Given the description of an element on the screen output the (x, y) to click on. 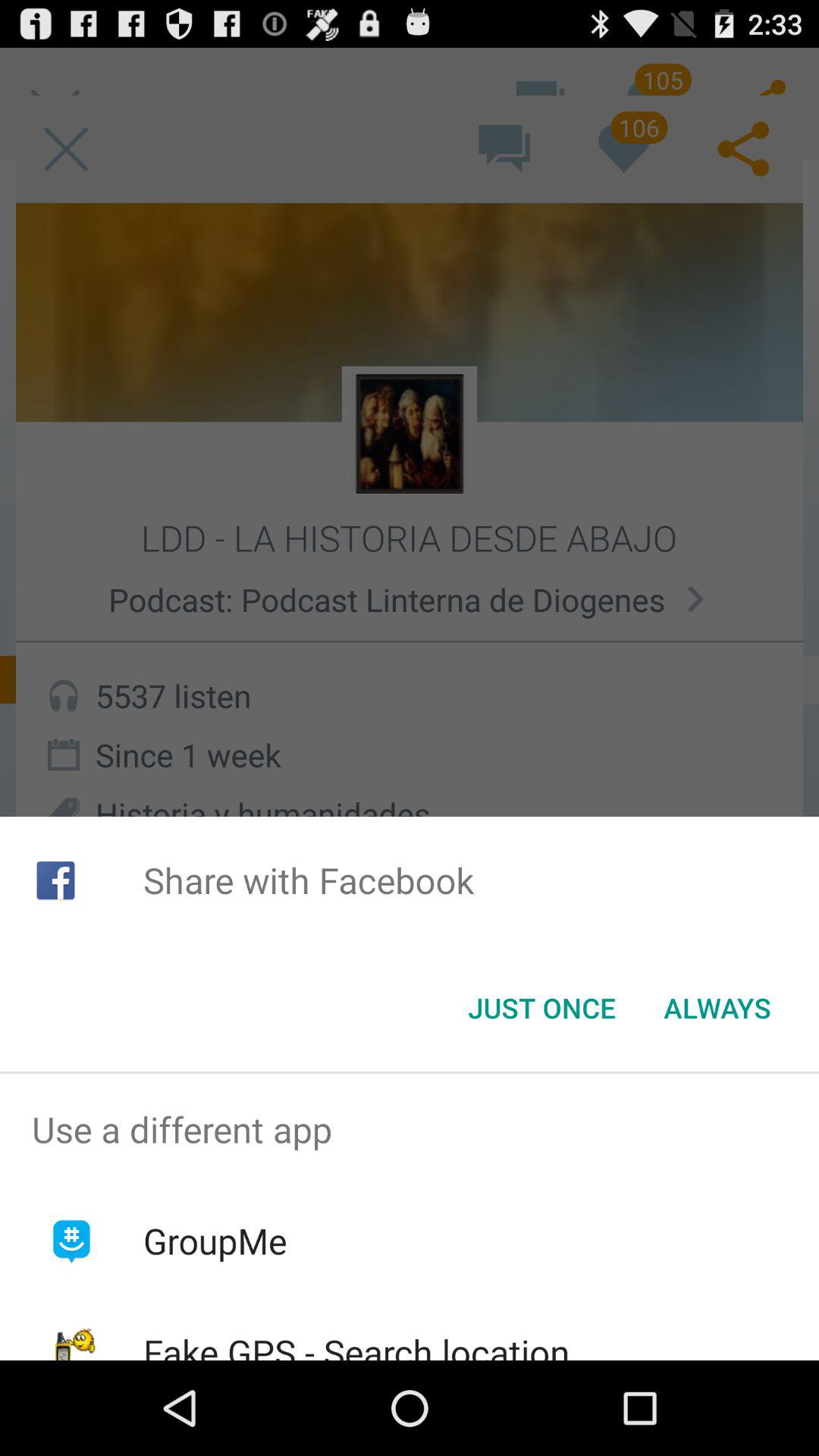
swipe until always icon (717, 1007)
